Given the description of an element on the screen output the (x, y) to click on. 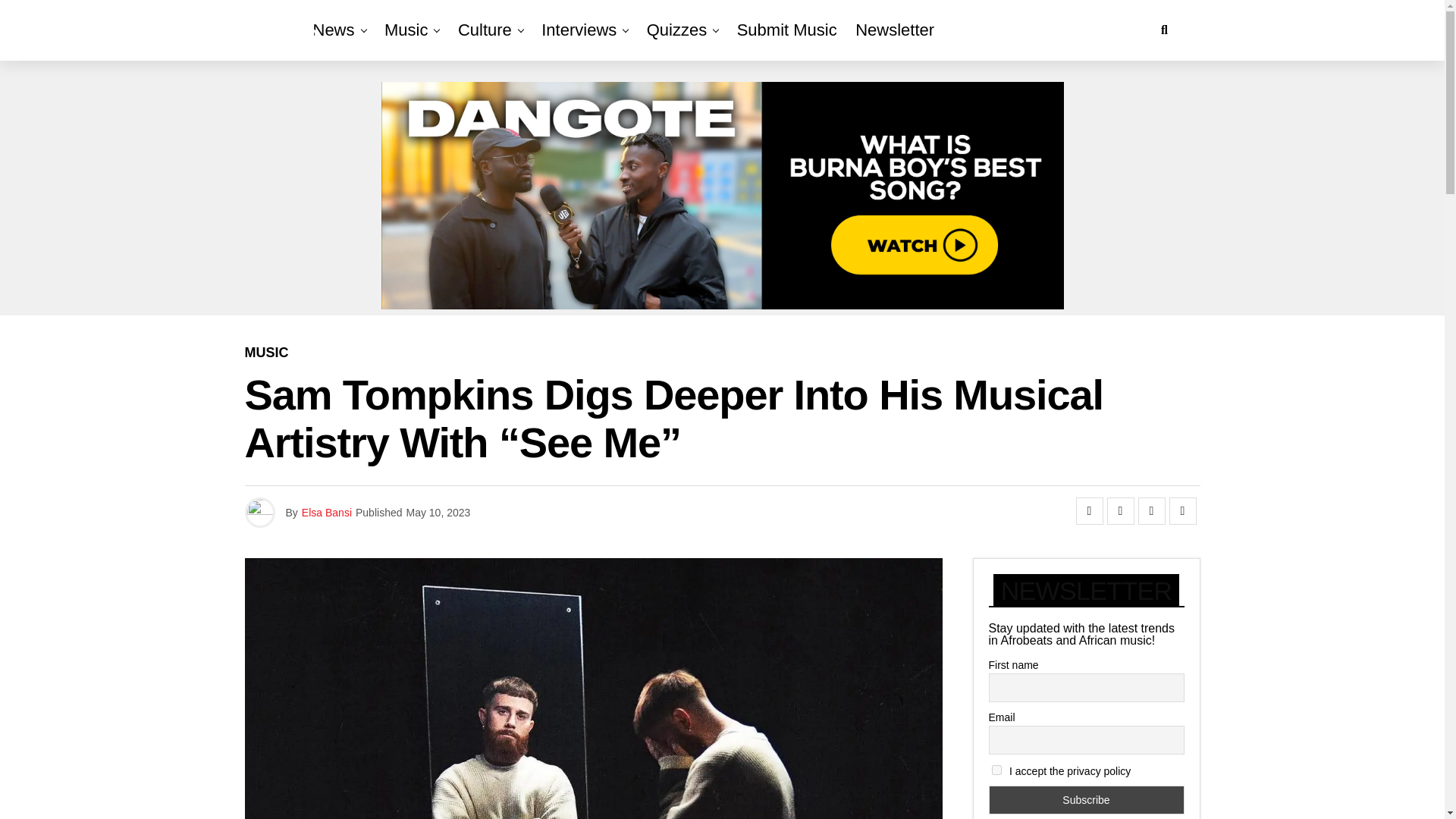
on (996, 769)
Posts by Elsa Bansi (326, 512)
Share on Flipboard (1150, 510)
Subscribe (1086, 799)
Share on Facebook (1088, 510)
Tweet This Post (1120, 510)
